Given the description of an element on the screen output the (x, y) to click on. 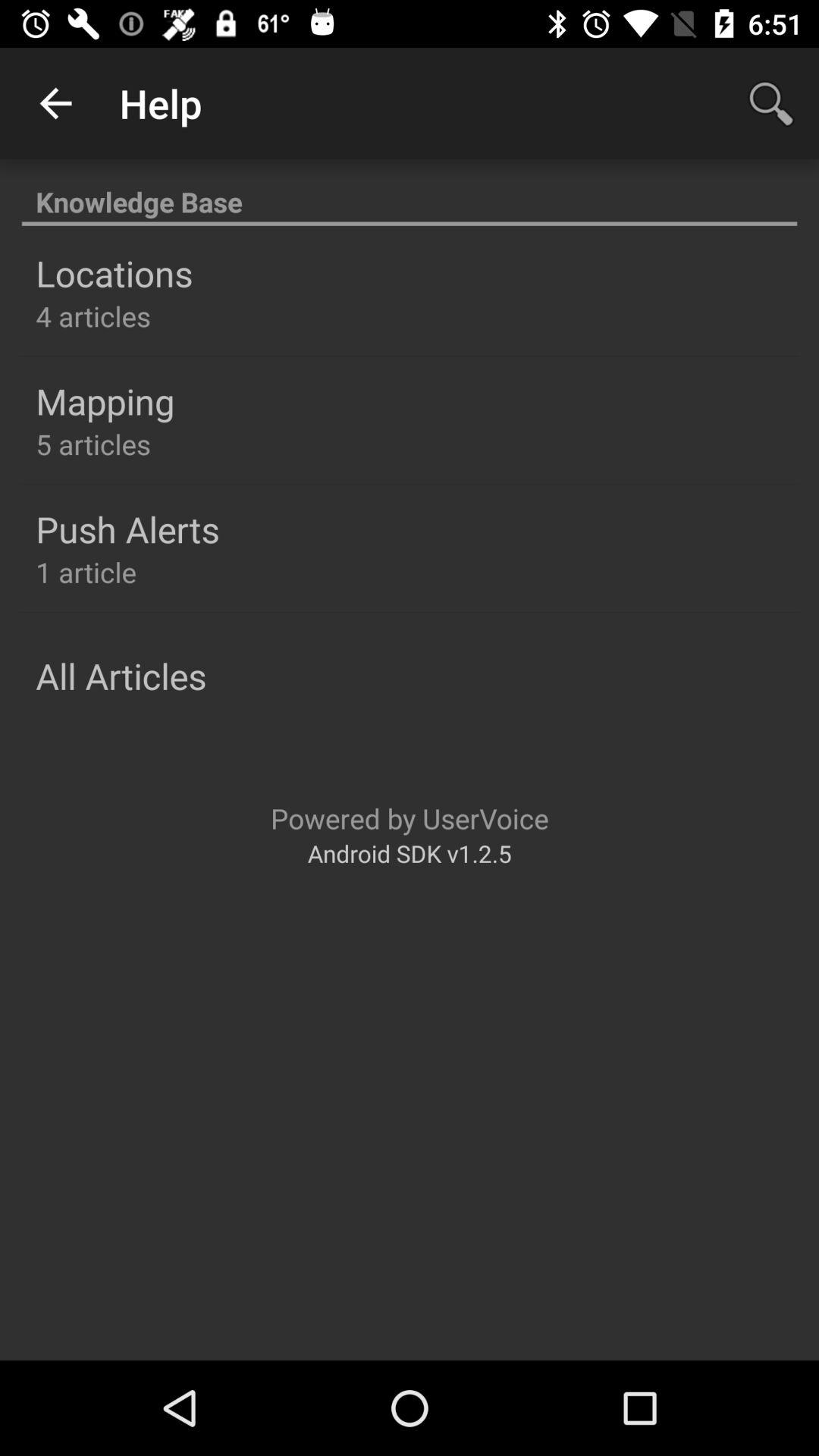
tap the knowledge base item (409, 193)
